Given the description of an element on the screen output the (x, y) to click on. 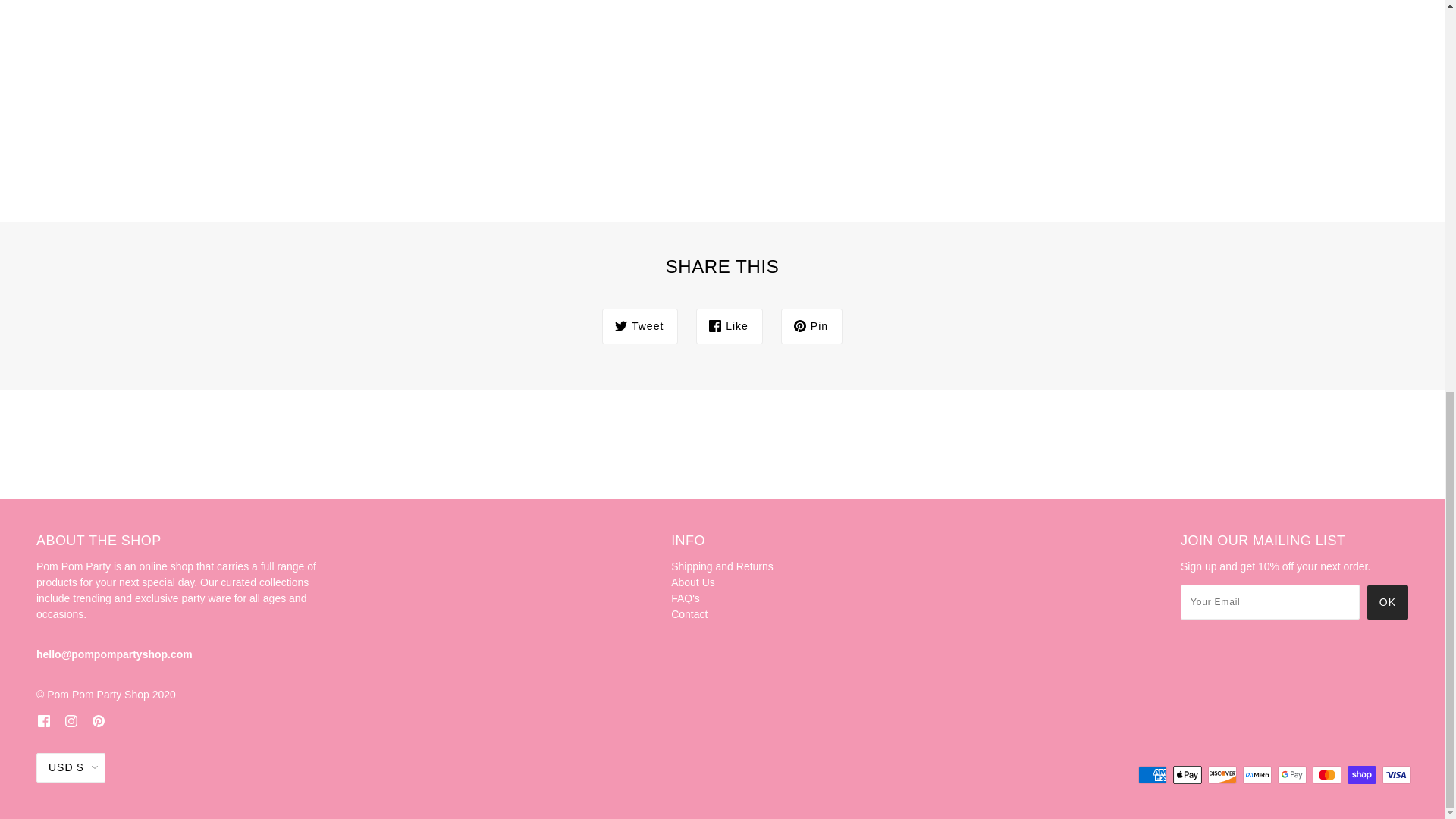
FAQ's (685, 598)
Google Pay (1292, 774)
About Us (692, 582)
Shop Pay (1361, 774)
American Express (1152, 774)
Mastercard (1326, 774)
Apple Pay (1187, 774)
Meta Pay (1257, 774)
Ok (1387, 602)
Shipping and Returns (722, 566)
Discover (1222, 774)
Contact (689, 613)
